Given the description of an element on the screen output the (x, y) to click on. 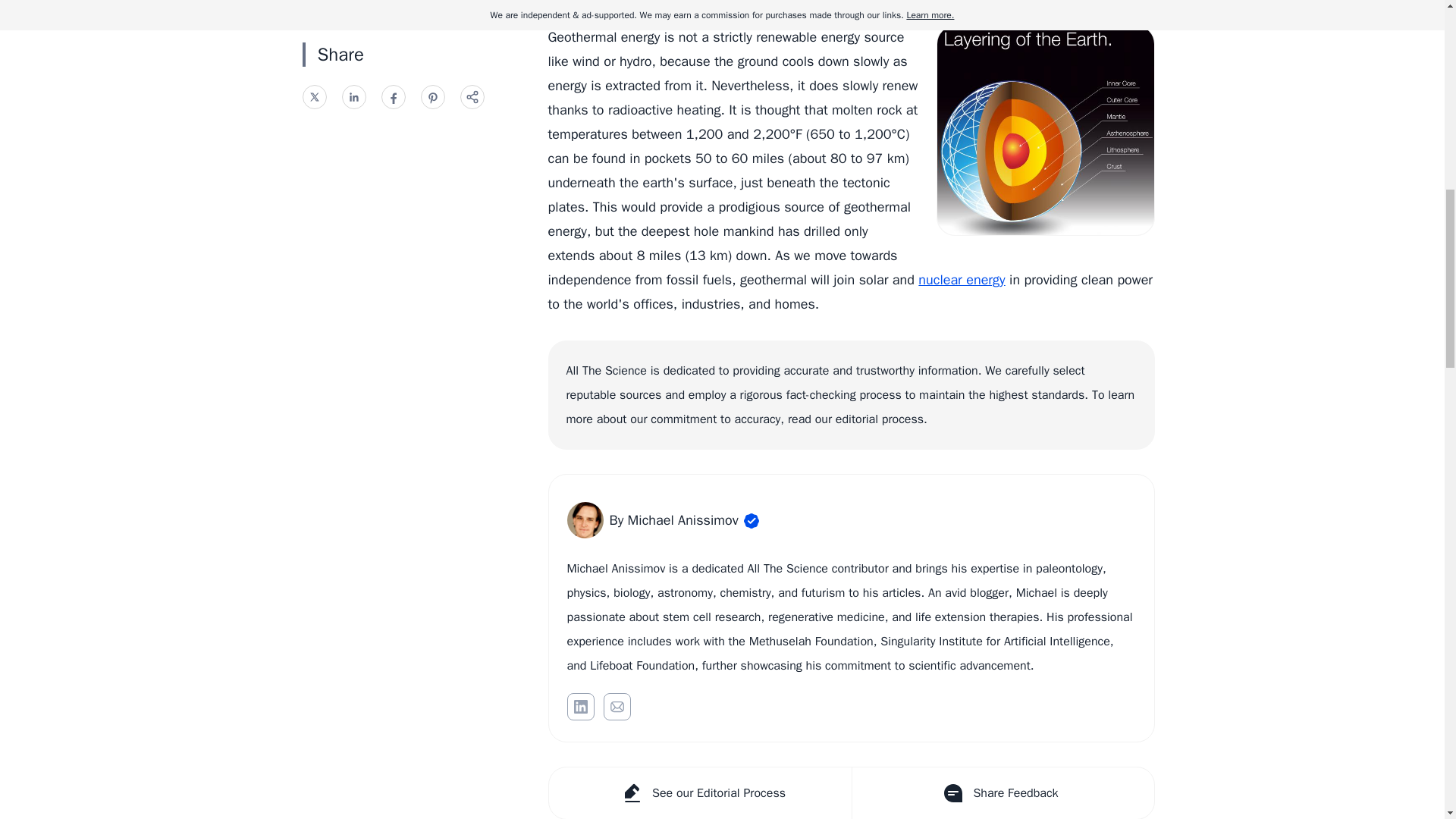
nuclear energy (961, 279)
